Given the description of an element on the screen output the (x, y) to click on. 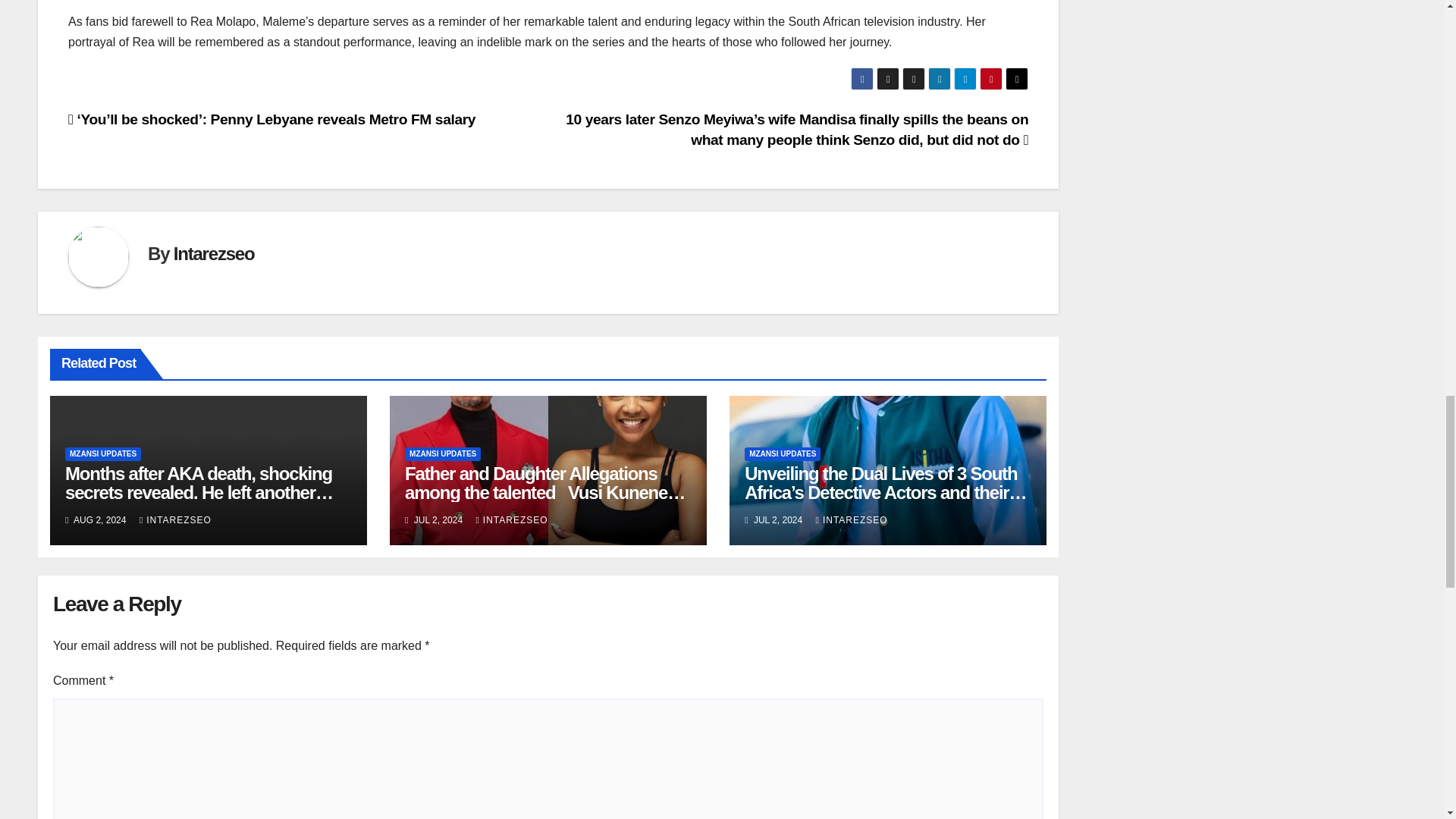
MZANSI UPDATES (103, 454)
INTAREZSEO (850, 520)
Intarezseo (213, 253)
MZANSI UPDATES (442, 454)
MZANSI UPDATES (782, 454)
INTAREZSEO (175, 520)
INTAREZSEO (511, 520)
